Given the description of an element on the screen output the (x, y) to click on. 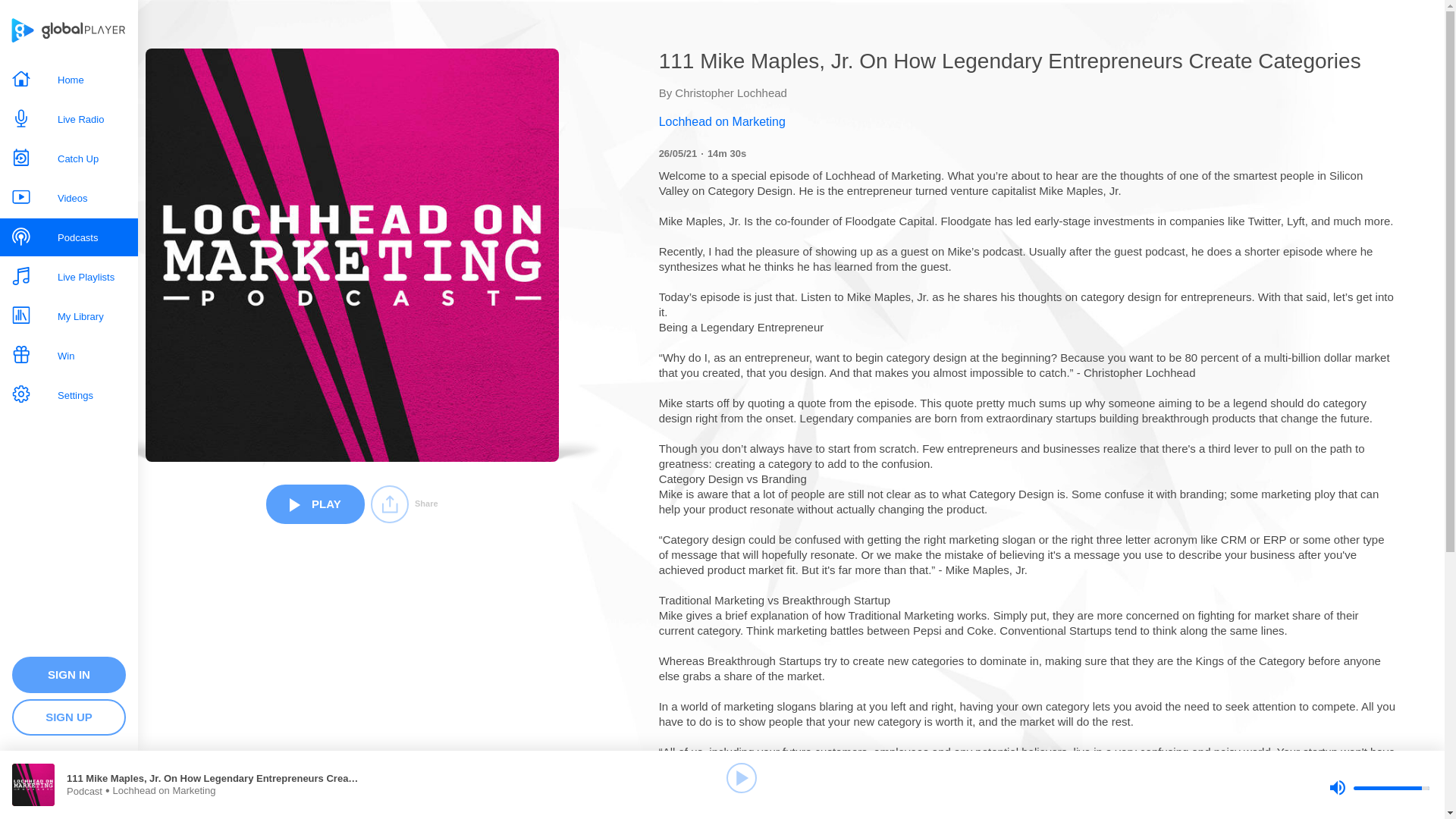
Live Playlists (69, 276)
Win (69, 355)
Global Player (83, 30)
Global Player (83, 30)
Catch Up (69, 158)
My Library (69, 315)
Share (404, 504)
Mute (1336, 787)
Lochhead on Marketing (1027, 121)
Live Radio (69, 118)
Global Player (22, 30)
SIGN UP (68, 717)
SIGN IN (68, 674)
Global Player (22, 30)
